Given the description of an element on the screen output the (x, y) to click on. 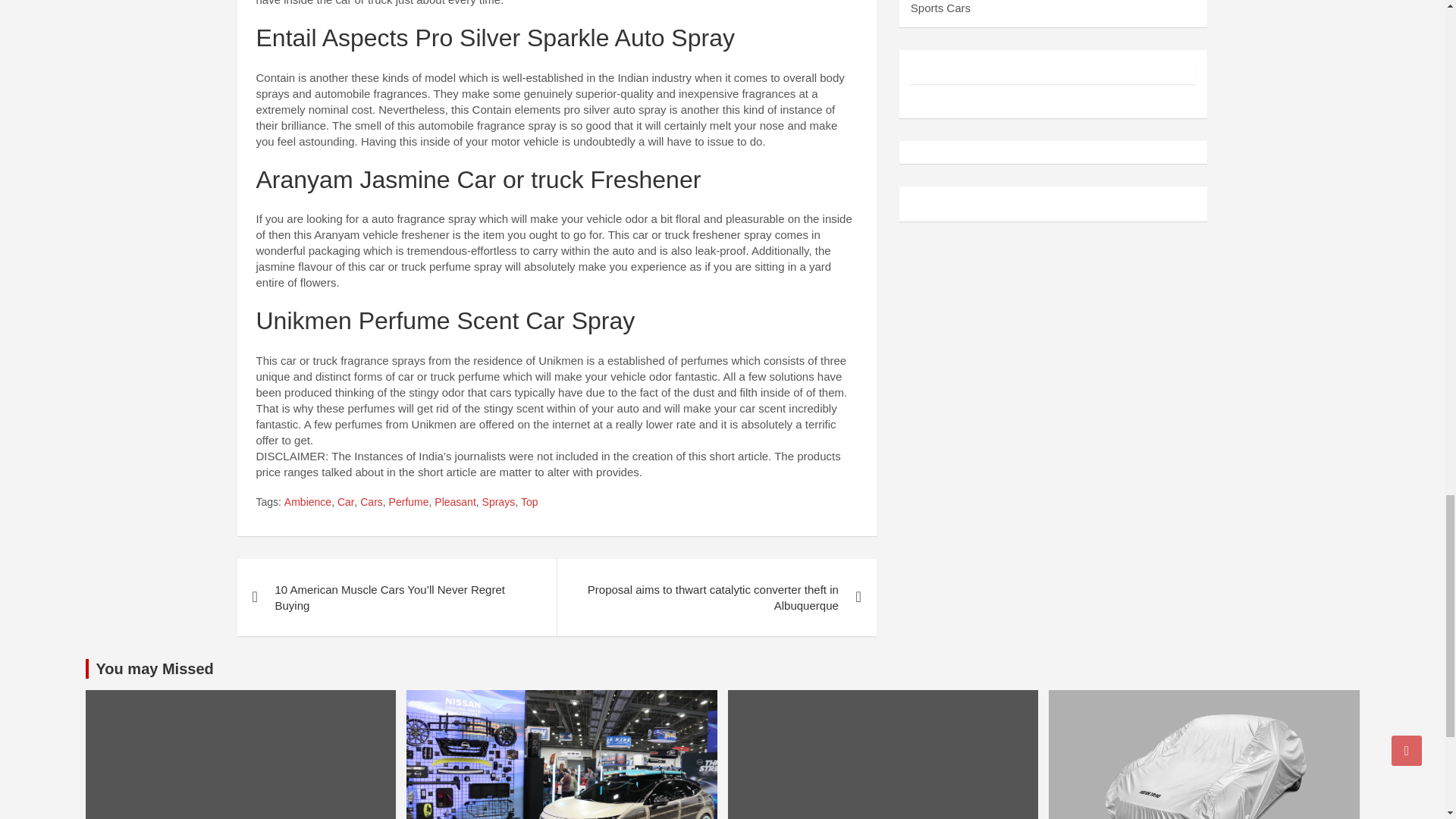
Perfume (408, 502)
Sprays (498, 502)
Cars (370, 502)
Pleasant (454, 502)
Ambience (307, 502)
Car (346, 502)
Top (529, 502)
